Given the description of an element on the screen output the (x, y) to click on. 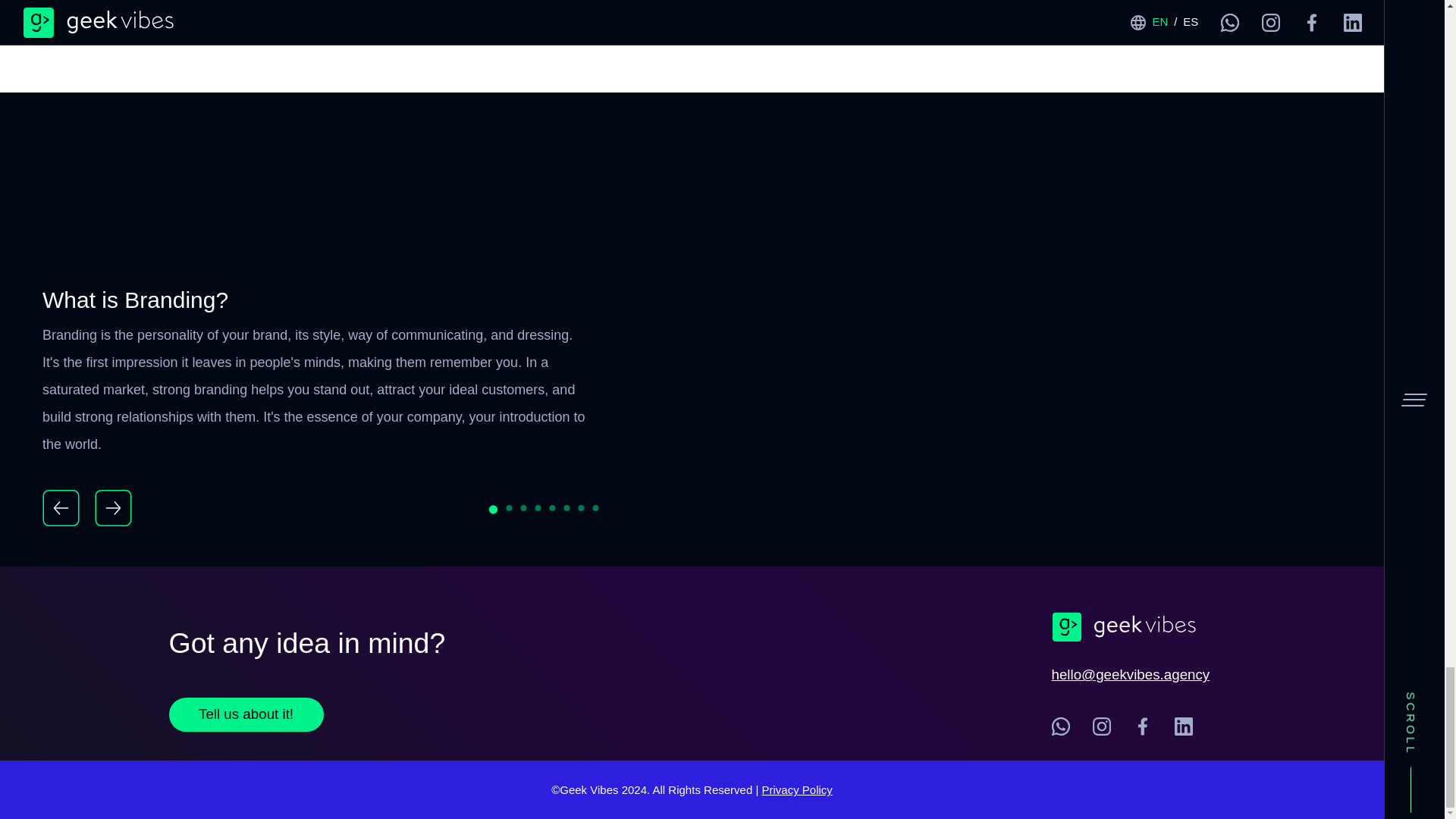
Tell us about it! (245, 714)
Privacy Policy (796, 789)
